Given the description of an element on the screen output the (x, y) to click on. 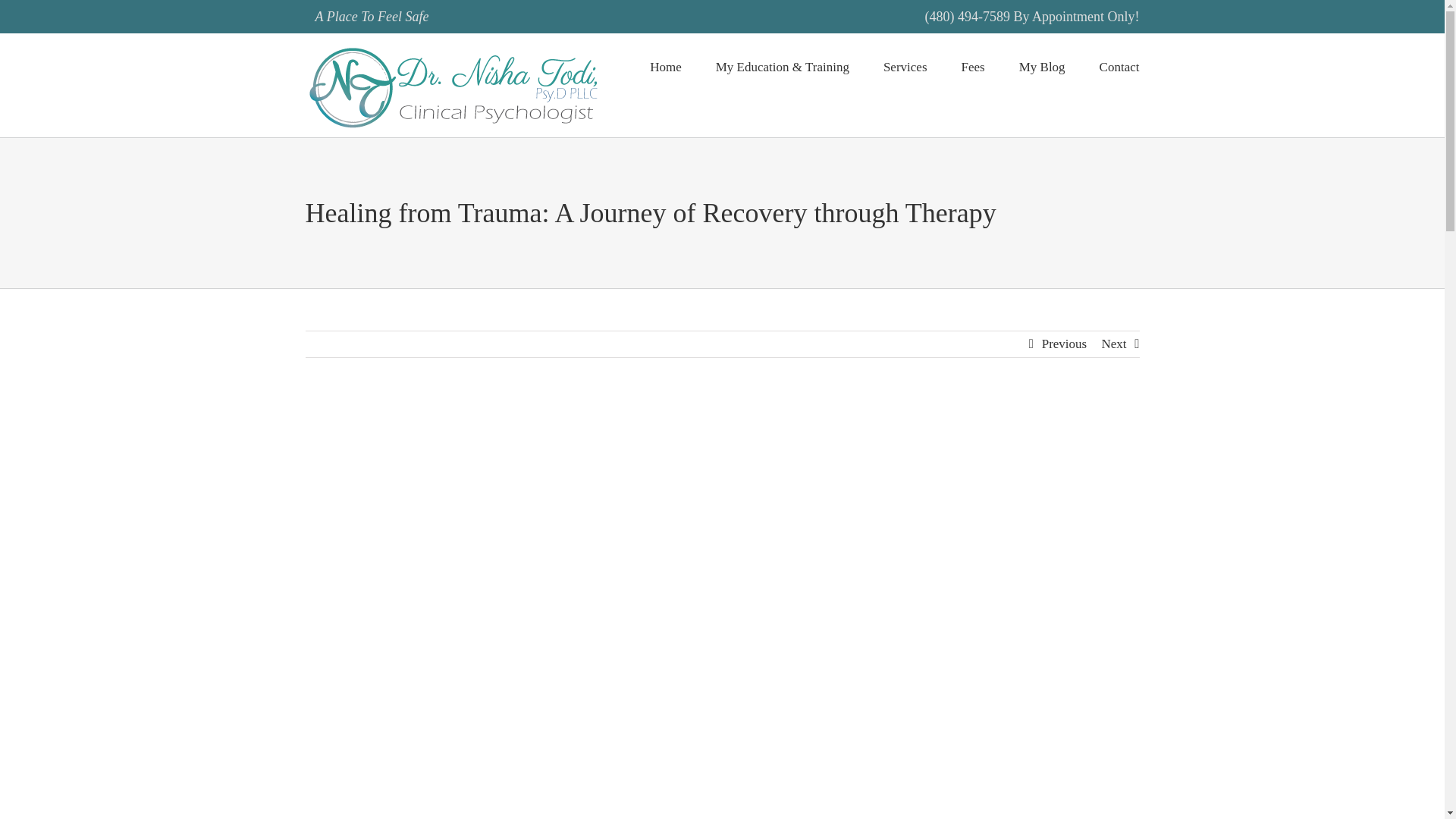
Previous (1064, 344)
By Appointment Only! (1076, 16)
A Place To Feel Safe (371, 16)
Next (1112, 344)
